Given the description of an element on the screen output the (x, y) to click on. 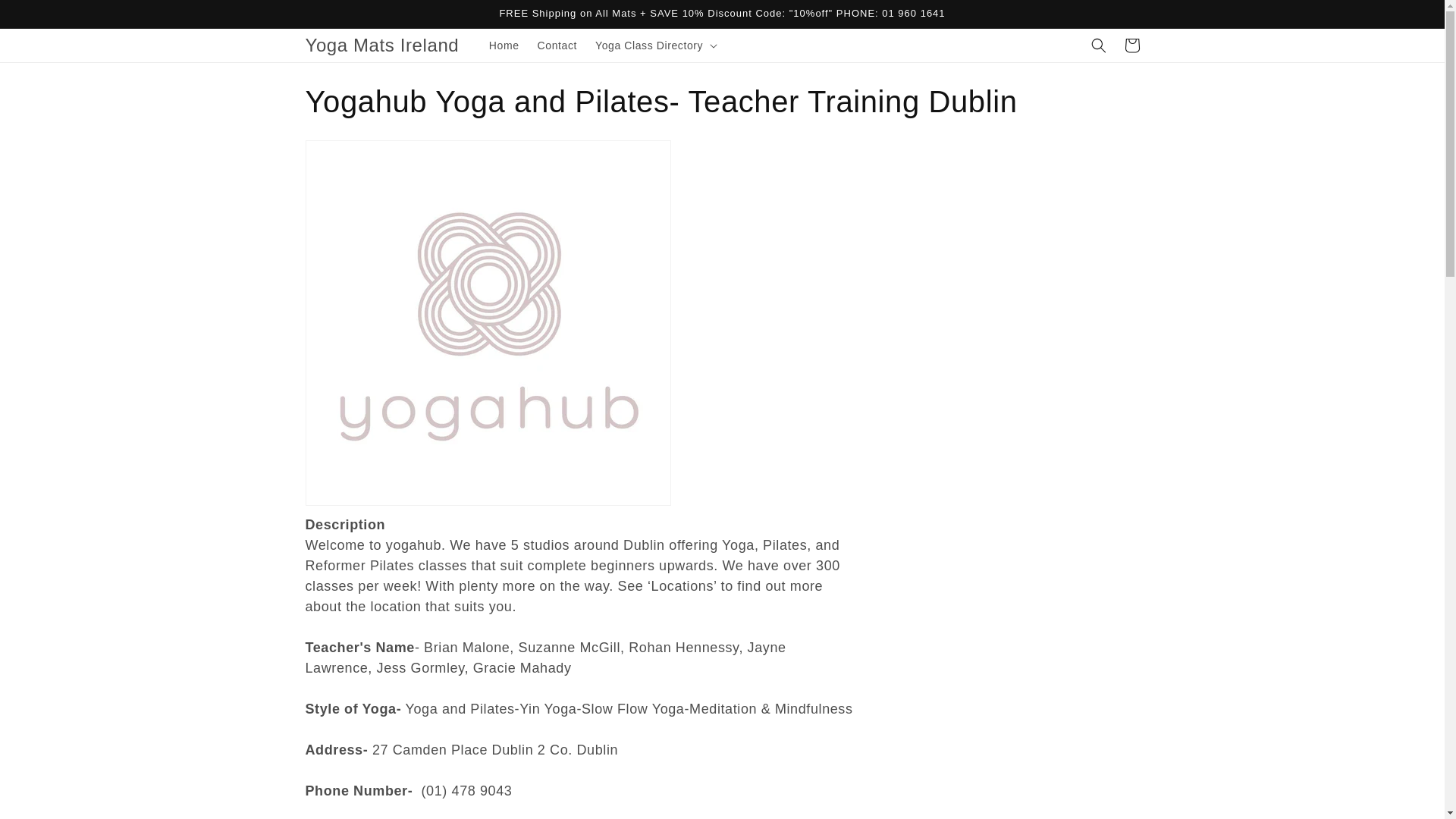
Cart (1131, 45)
Yoga Mats Ireland (381, 44)
Contact (557, 45)
Skip to content (45, 17)
Home (504, 45)
